Given the description of an element on the screen output the (x, y) to click on. 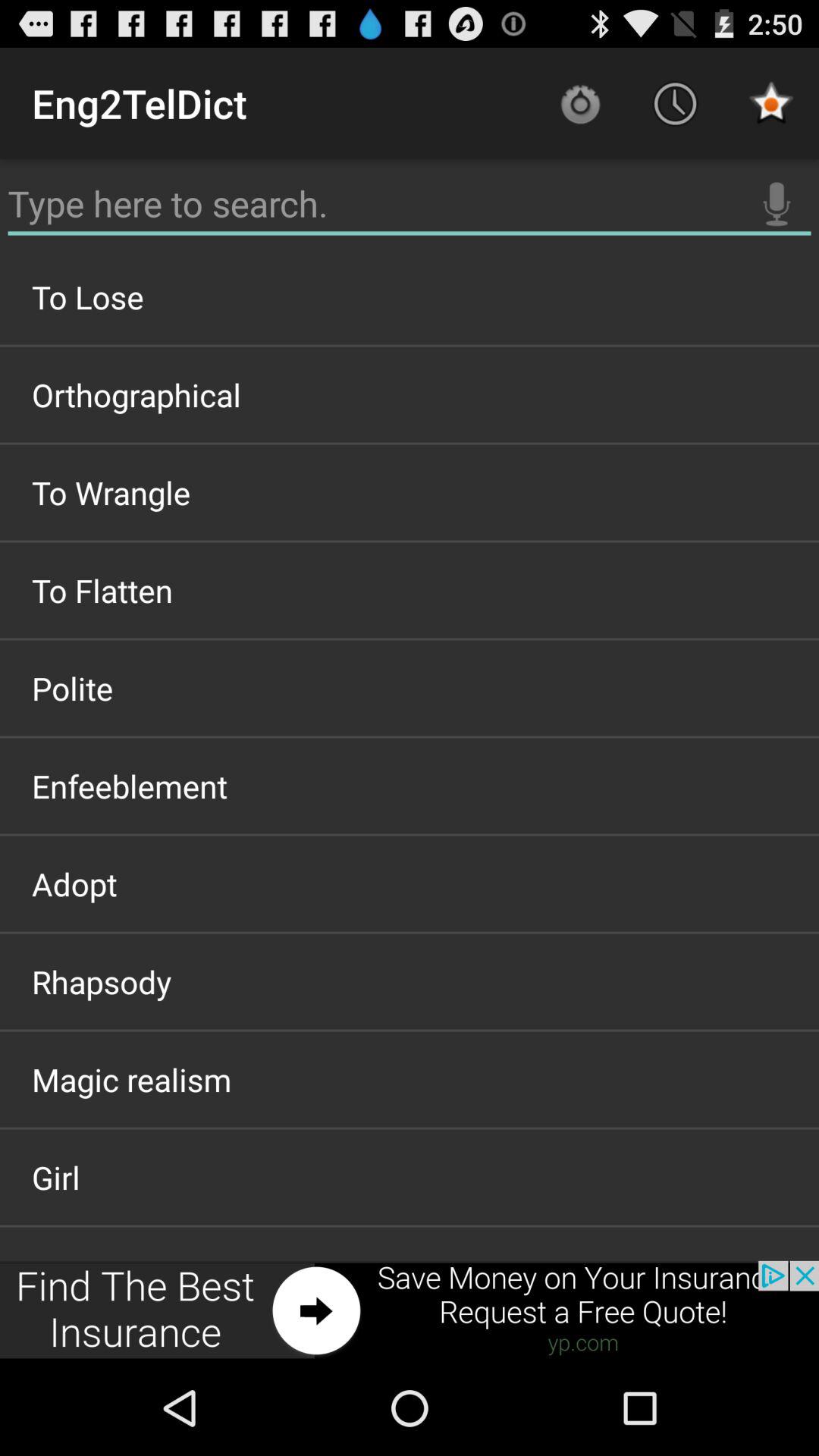
jump until to flatten icon (409, 590)
